Given the description of an element on the screen output the (x, y) to click on. 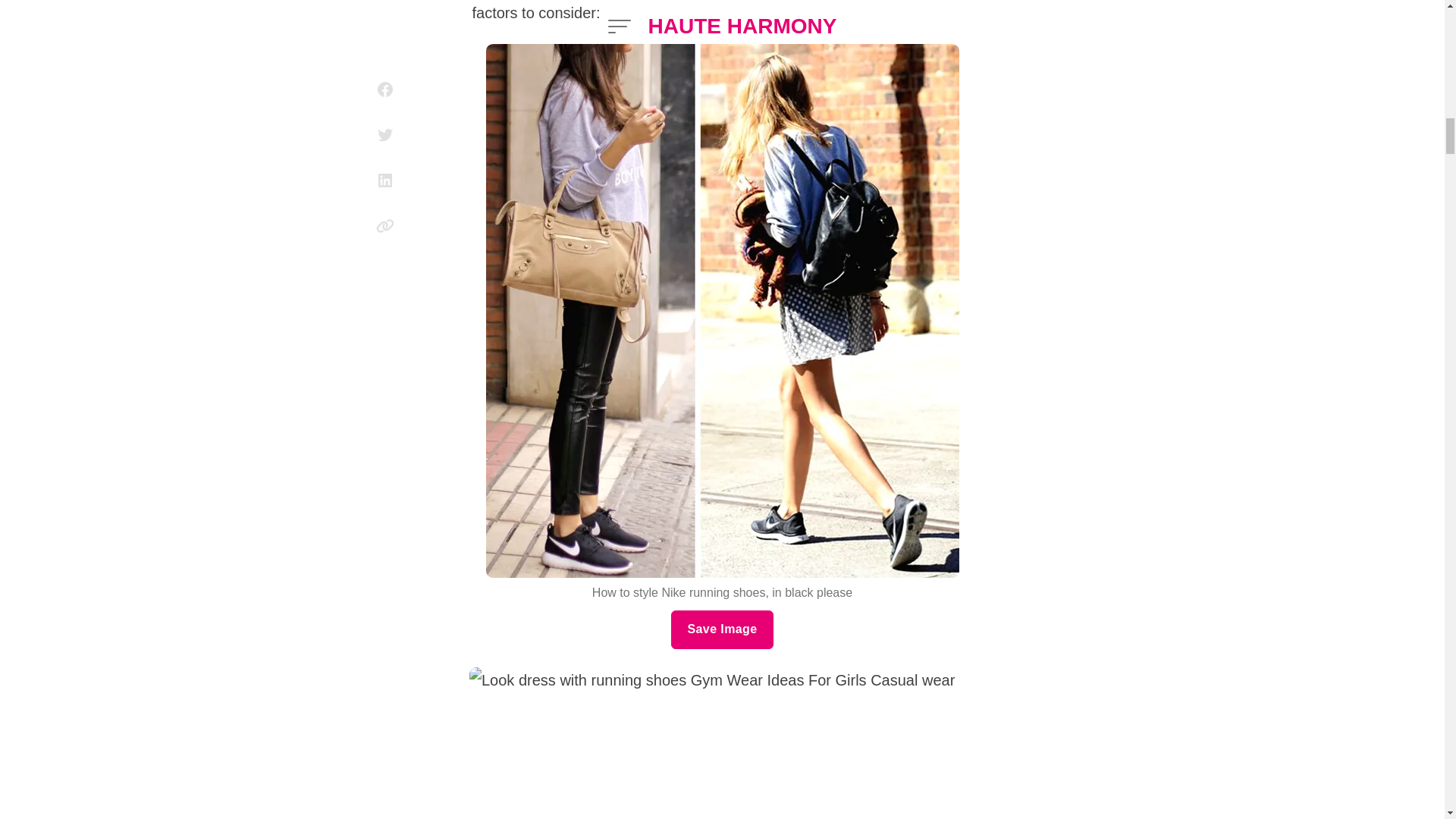
Save Image (722, 630)
